Given the description of an element on the screen output the (x, y) to click on. 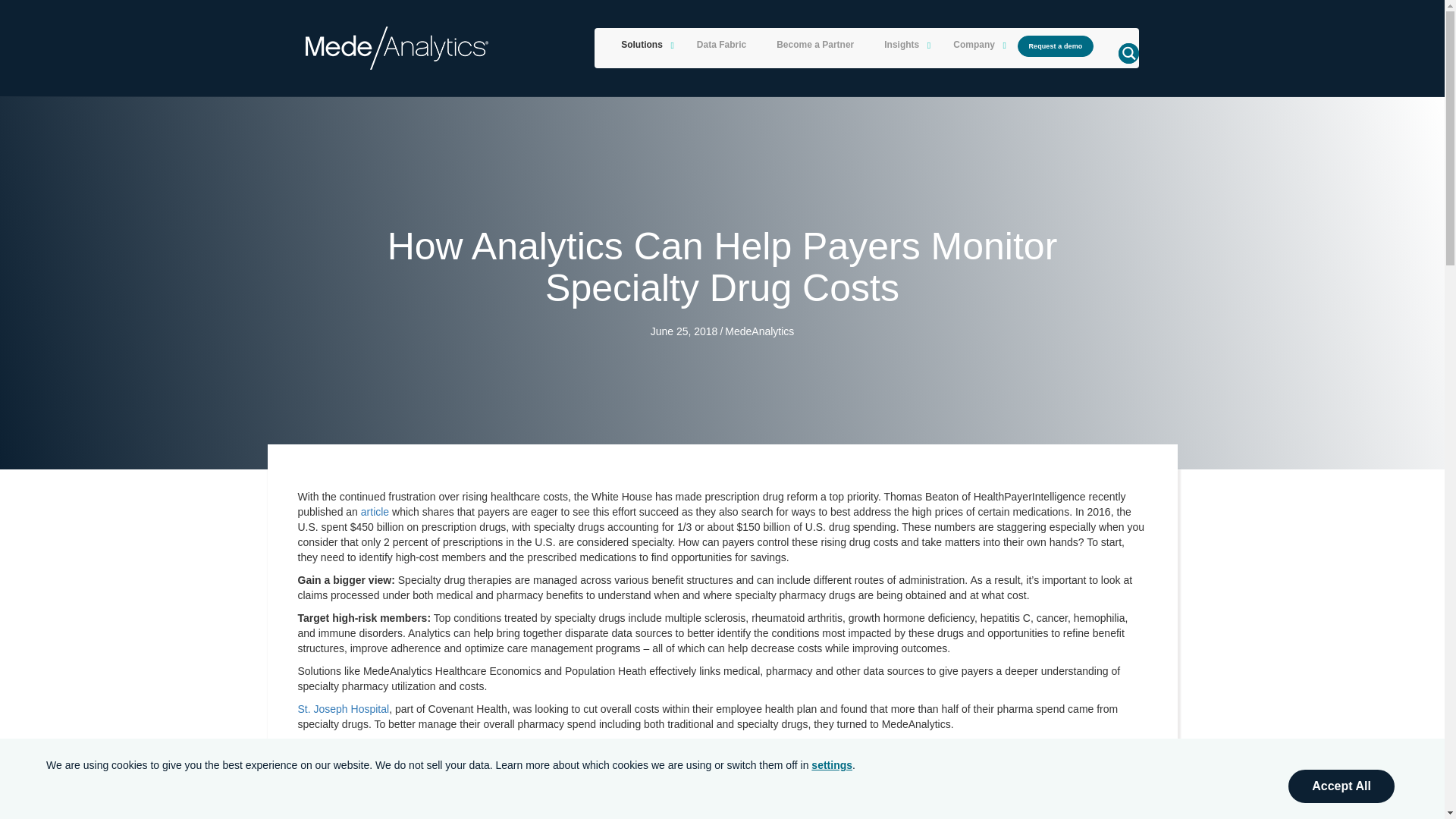
Insights (903, 45)
Social-logo-linkedin (360, 715)
Become a Partner (815, 45)
Data Fabric (721, 45)
social-logo-X-twitter (400, 715)
Social-logo-facebook (319, 715)
